Given the description of an element on the screen output the (x, y) to click on. 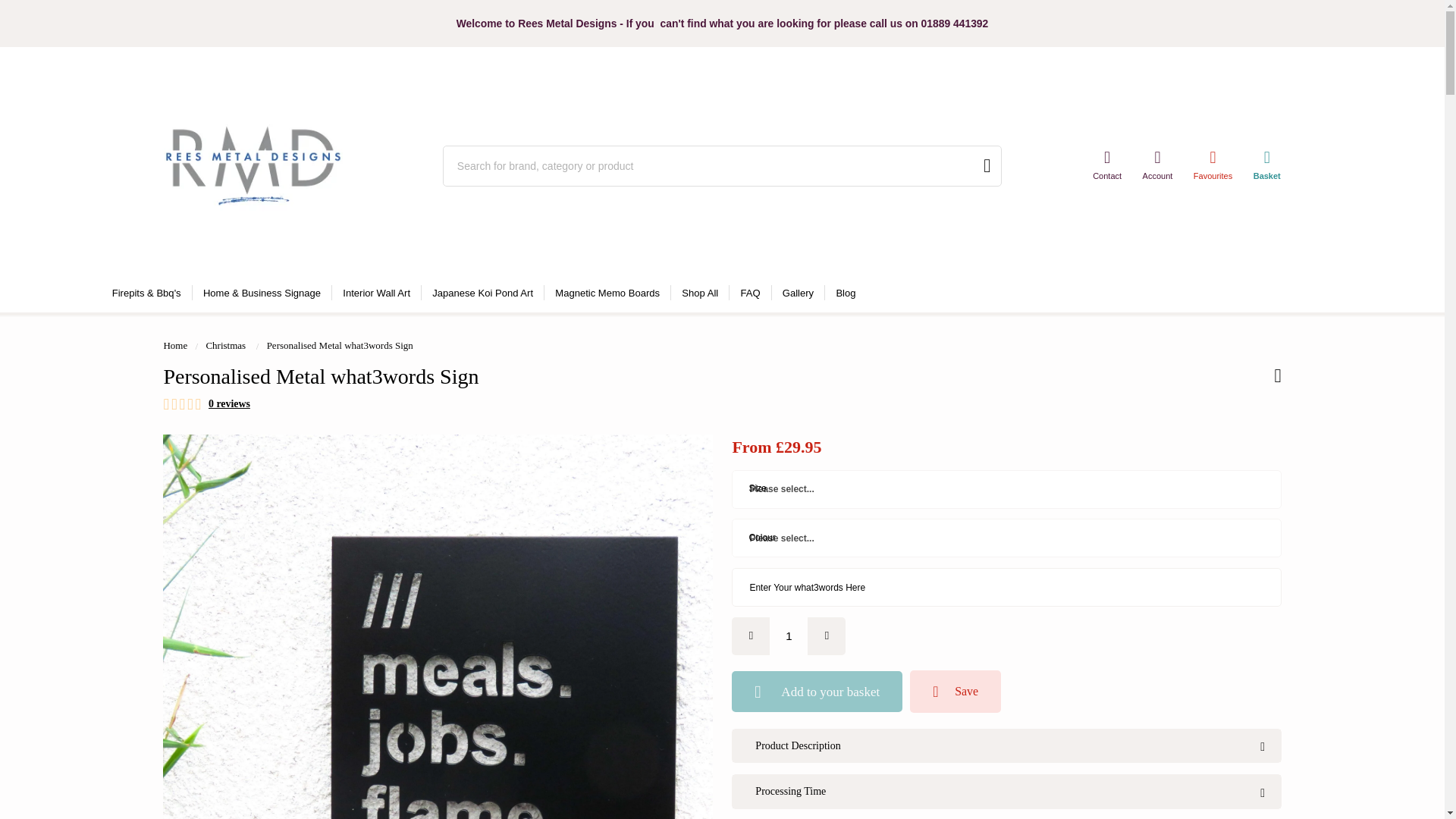
1 (789, 636)
Account (1157, 164)
Favourites (1212, 164)
Contact (1106, 164)
